Given the description of an element on the screen output the (x, y) to click on. 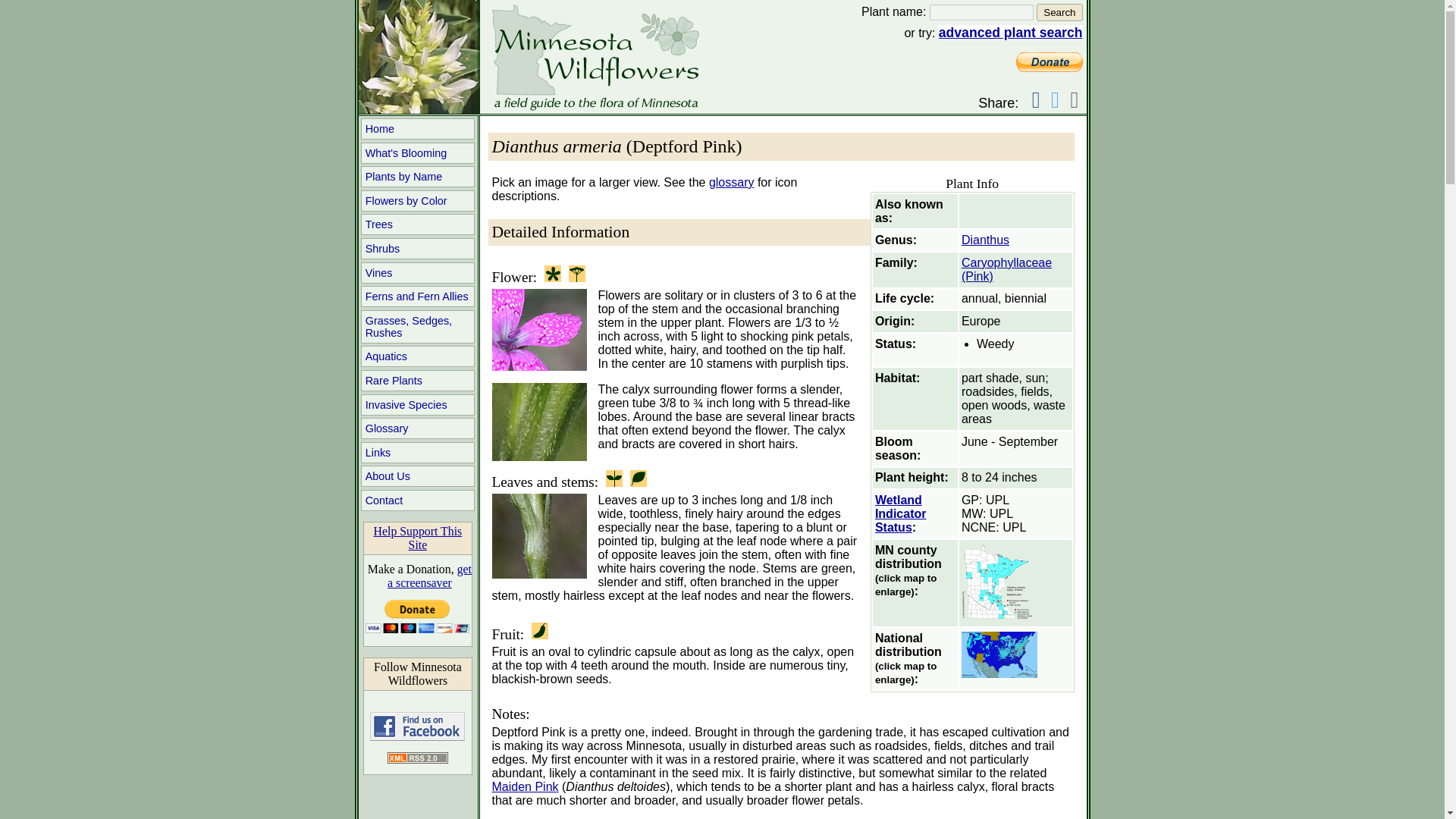
Aquatics (417, 355)
Share on Facebook (1036, 99)
Plants by Name (417, 176)
advanced plant search (1011, 32)
Tweet (1055, 99)
Share via Email (1074, 99)
Shrubs (417, 248)
glossary (731, 182)
Flower shape: 5-petals (552, 273)
Trees (417, 224)
Home (417, 128)
Rare Plants (417, 380)
Dianthus (984, 239)
Wetland Indicator Status (900, 513)
What's Blooming (417, 152)
